Given the description of an element on the screen output the (x, y) to click on. 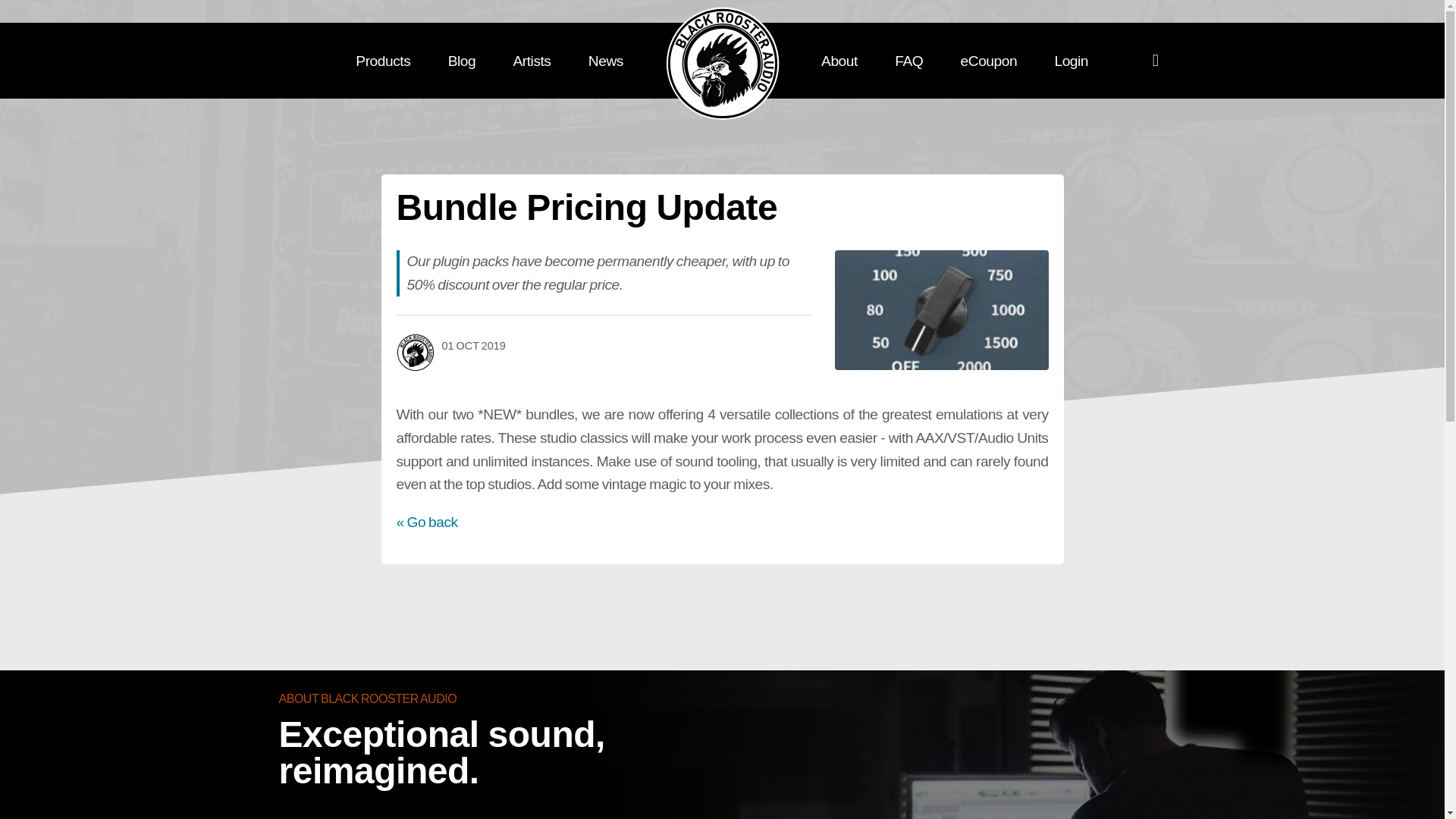
About (839, 60)
eCoupon handling explained (988, 60)
Products (382, 60)
Interviews, Mixing Tips, Stories (462, 60)
Latest news regarding audio plugins (605, 60)
News (605, 60)
Artists (532, 60)
Login (1070, 60)
Log in to MyAccount (1070, 60)
Blog (462, 60)
